Given the description of an element on the screen output the (x, y) to click on. 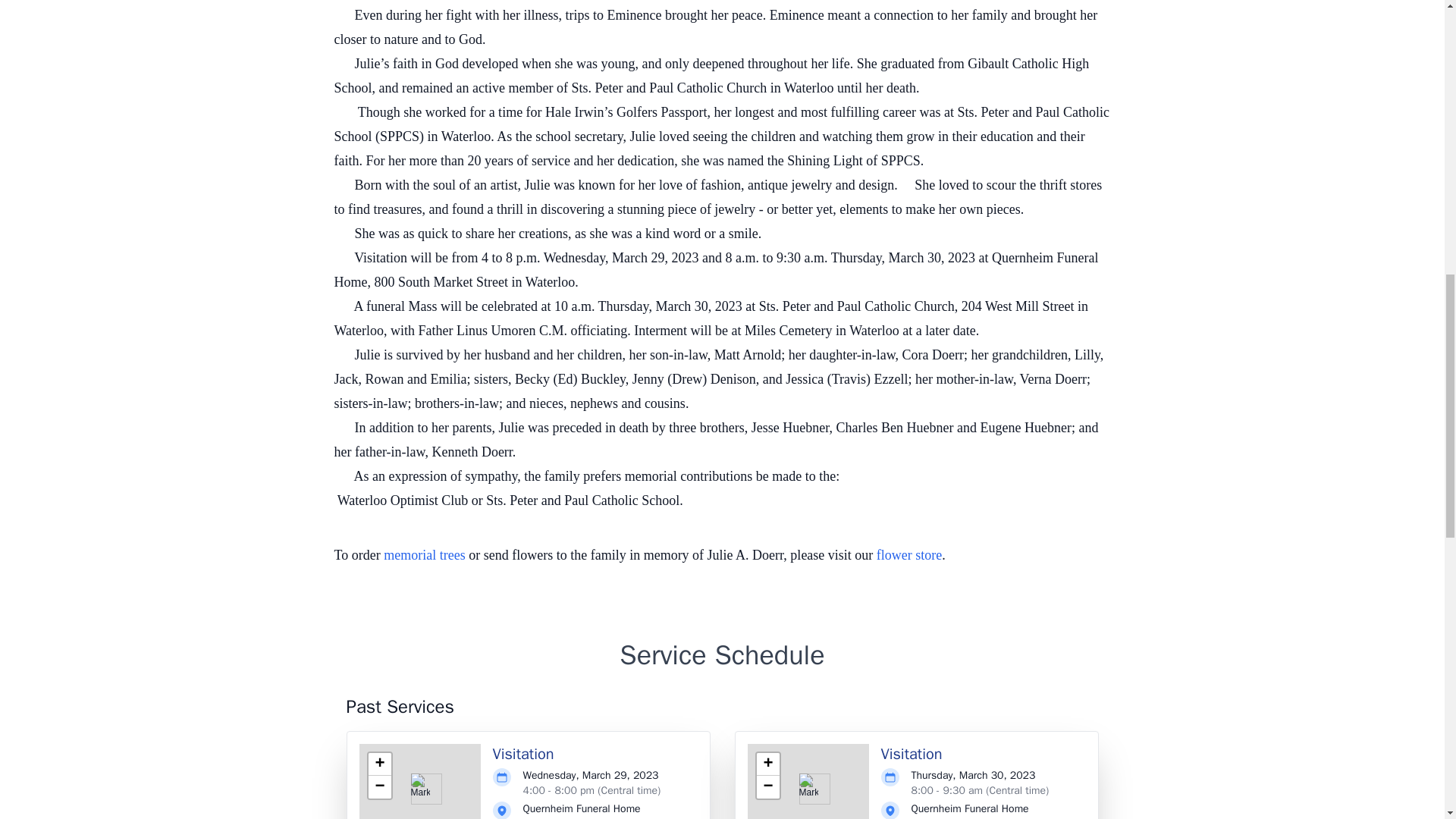
Zoom out (767, 786)
flower store (909, 554)
Zoom in (379, 763)
Zoom out (379, 786)
Zoom in (767, 763)
memorial trees (424, 554)
